Given the description of an element on the screen output the (x, y) to click on. 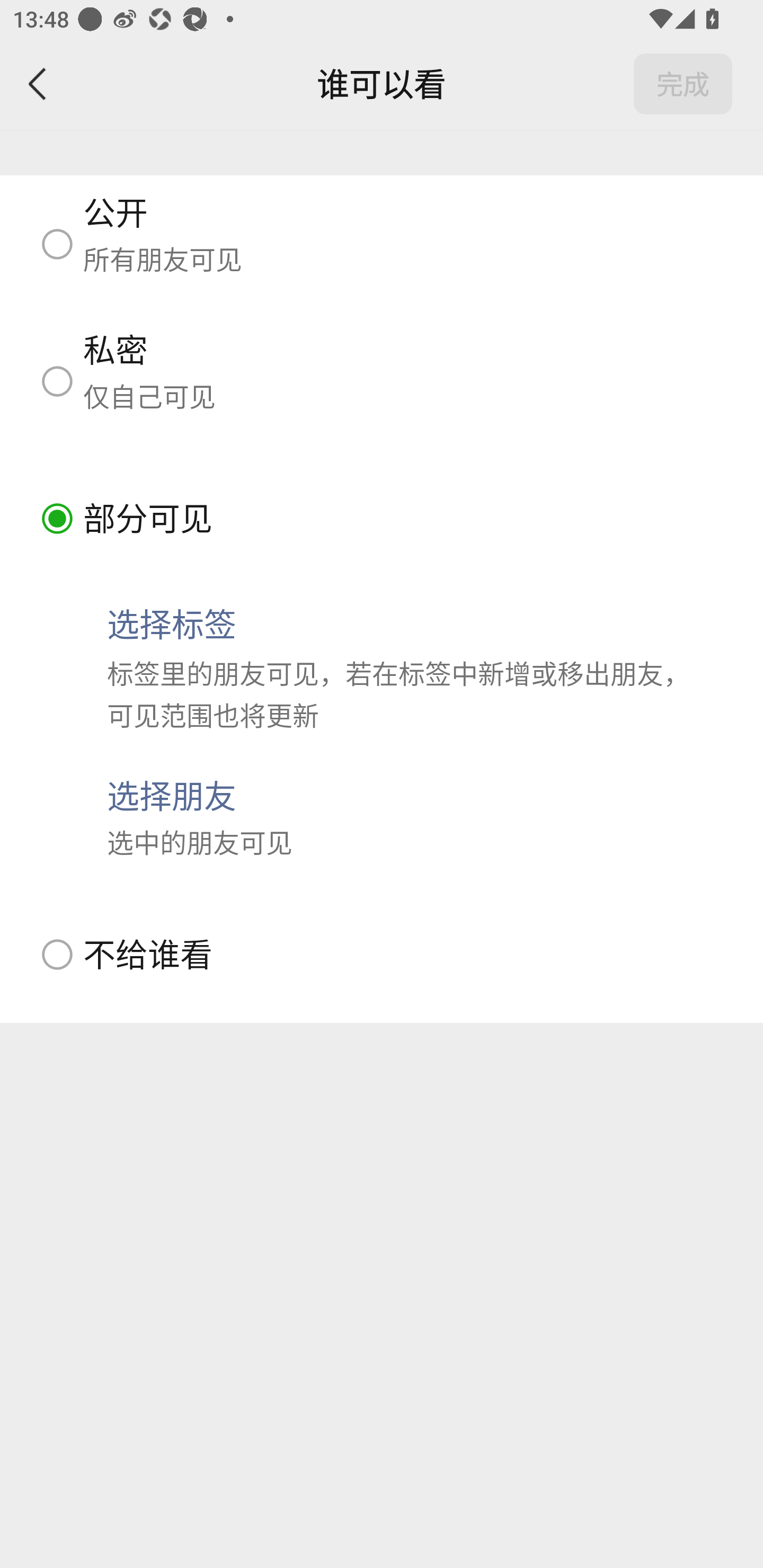
返回 (38, 83)
完成 (683, 83)
已选中 公开 所有朋友可见 (381, 243)
已选中 私密 仅自己可见 (381, 381)
已选中 部分可见 (381, 518)
选择标签 标签里的朋友可见，若在标签中新增或移出朋友，可见范围也将更新 (381, 666)
选择朋友 选中的朋友可见 (381, 816)
不给谁看 (381, 953)
